Given the description of an element on the screen output the (x, y) to click on. 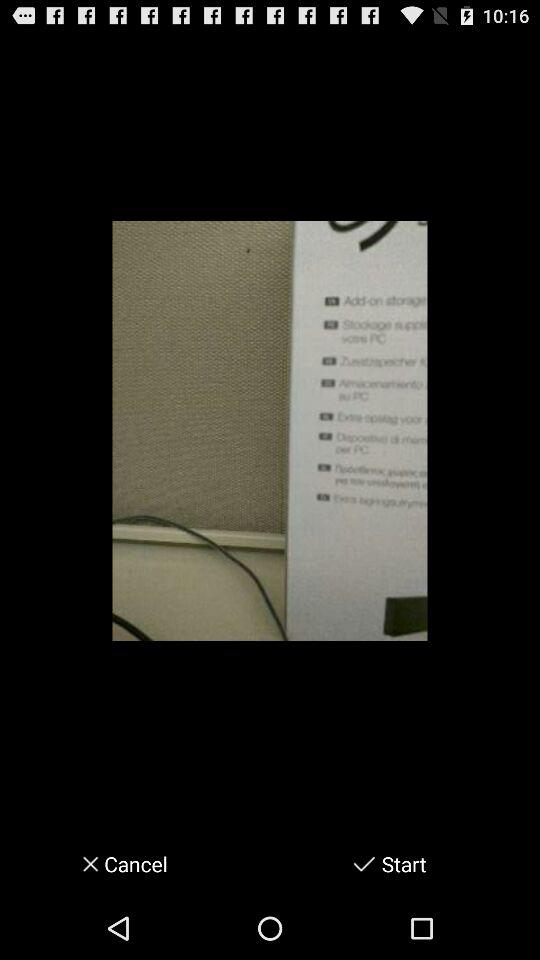
start video (363, 864)
